Given the description of an element on the screen output the (x, y) to click on. 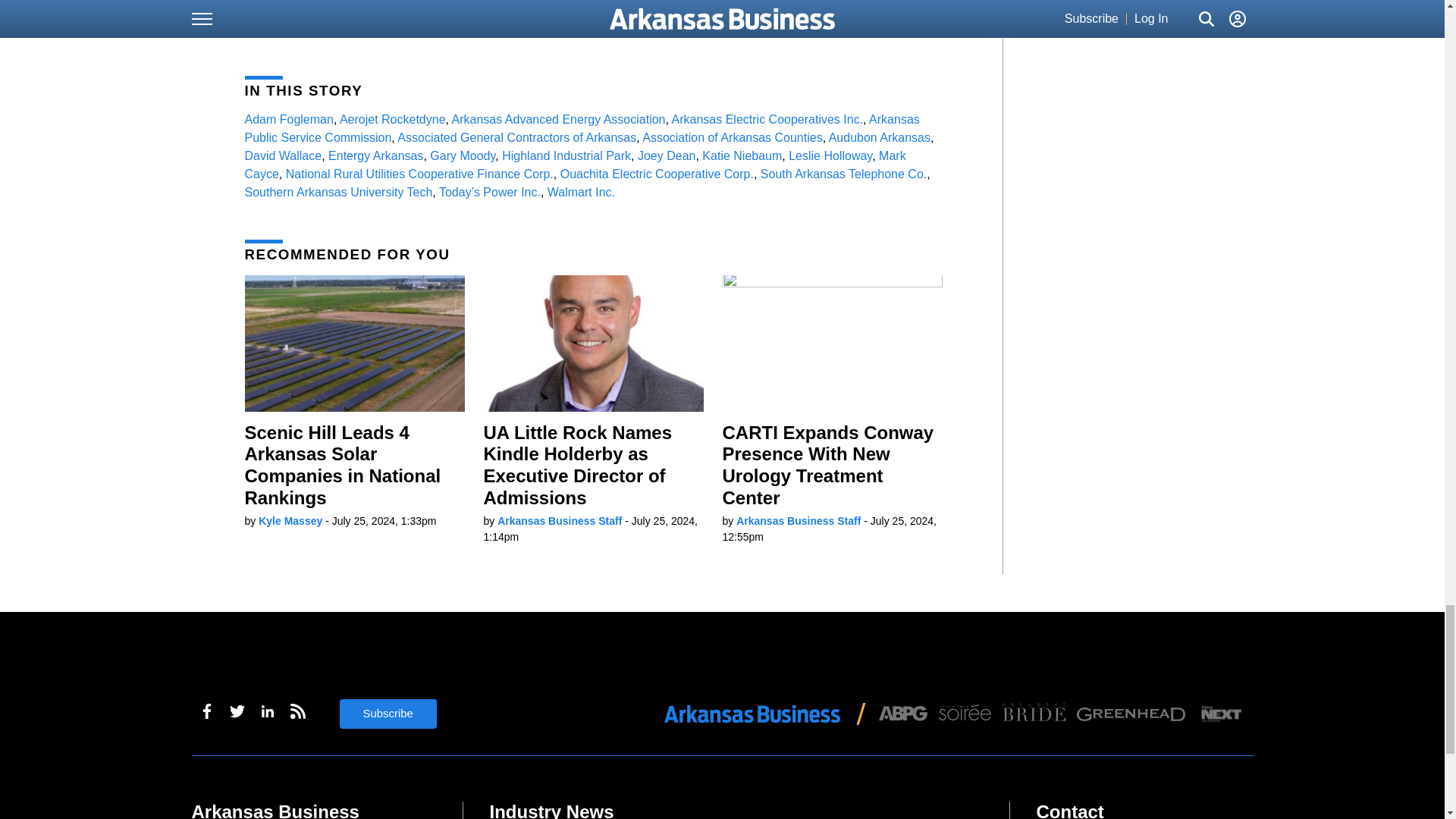
Posts by Kyle Massey (290, 521)
Posts by Arkansas Business Staff (559, 521)
Posts by Arkansas Business Staff (798, 521)
